Given the description of an element on the screen output the (x, y) to click on. 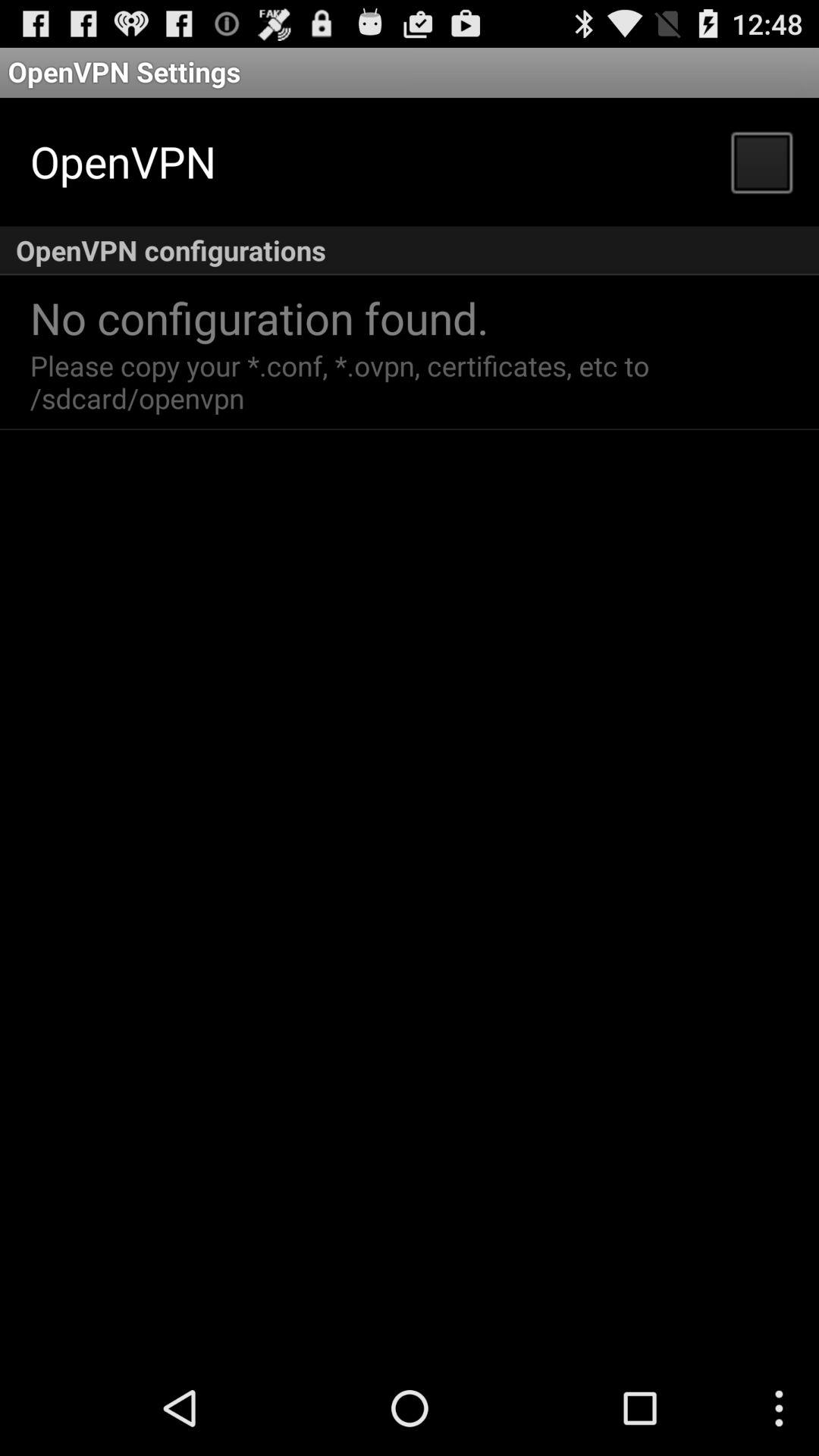
jump until no configuration found. app (259, 317)
